Given the description of an element on the screen output the (x, y) to click on. 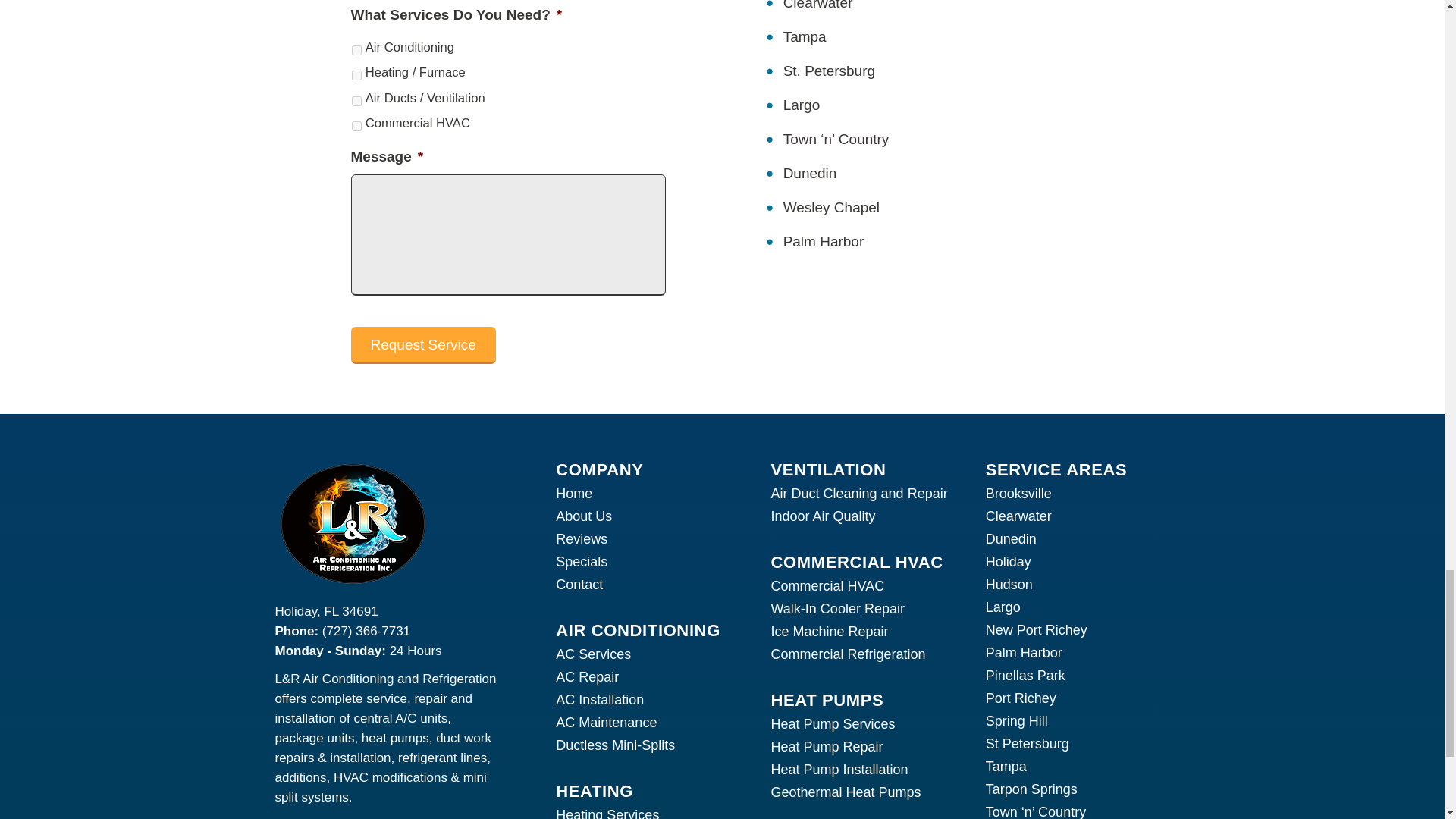
Request Service (422, 344)
Commercial HVAC (356, 126)
Air Conditioning (356, 50)
